Given the description of an element on the screen output the (x, y) to click on. 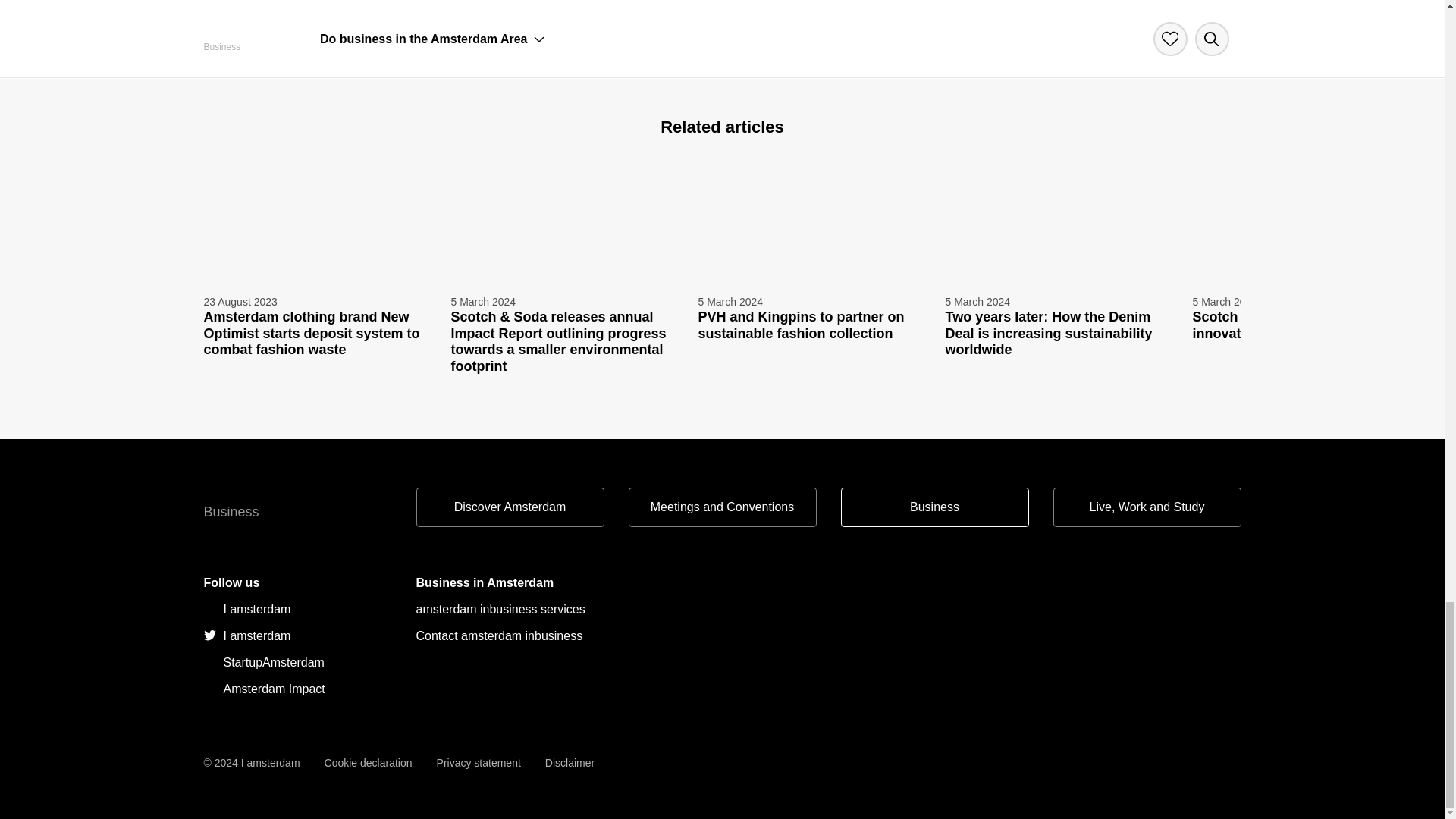
twitter (297, 635)
linkedin (297, 608)
linkedin (297, 688)
linkedin (297, 662)
